Given the description of an element on the screen output the (x, y) to click on. 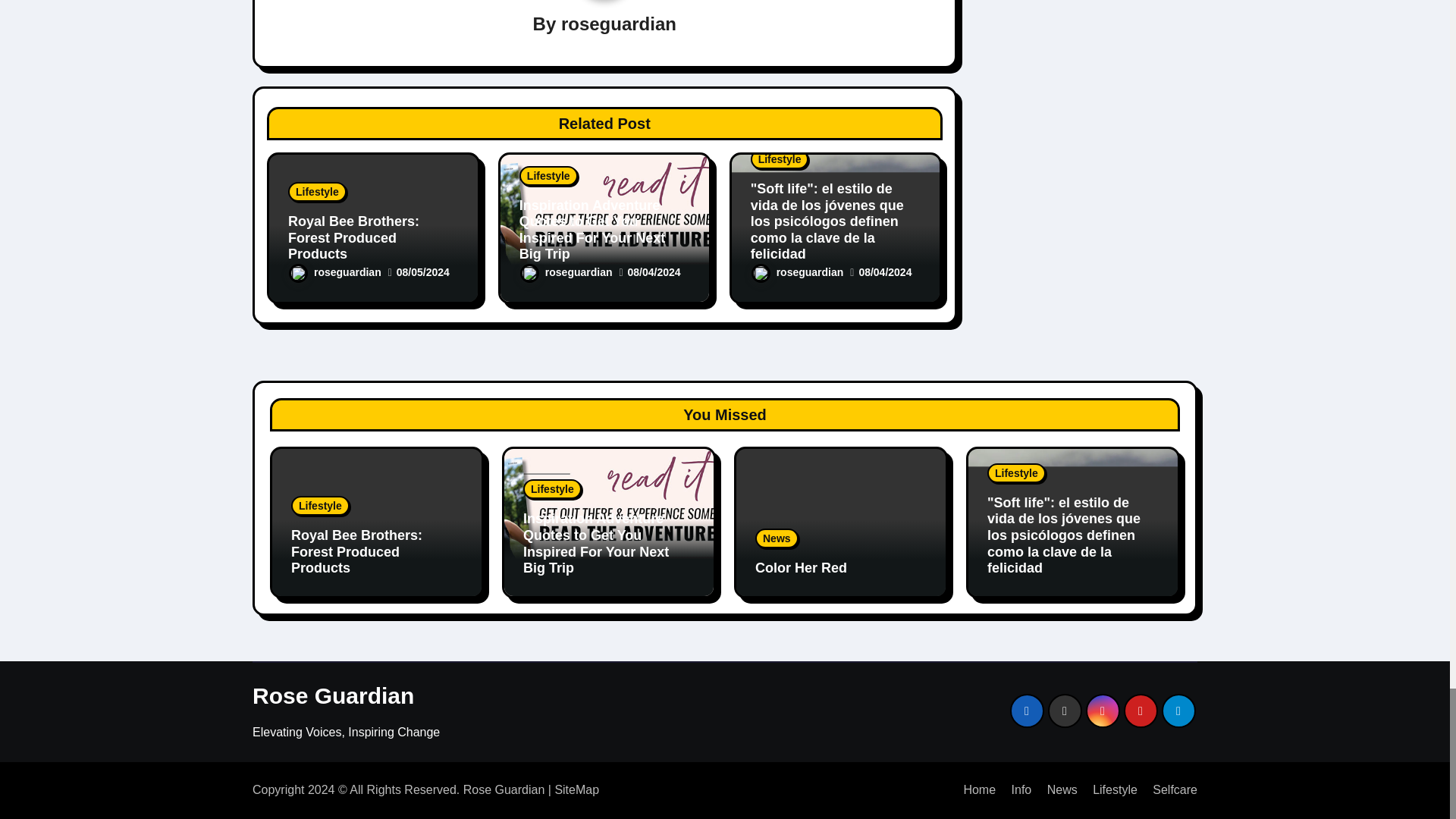
Permalink to: Royal Bee Brothers: Forest Produced Products (356, 551)
Permalink to: Royal Bee Brothers: Forest Produced Products (353, 237)
